Given the description of an element on the screen output the (x, y) to click on. 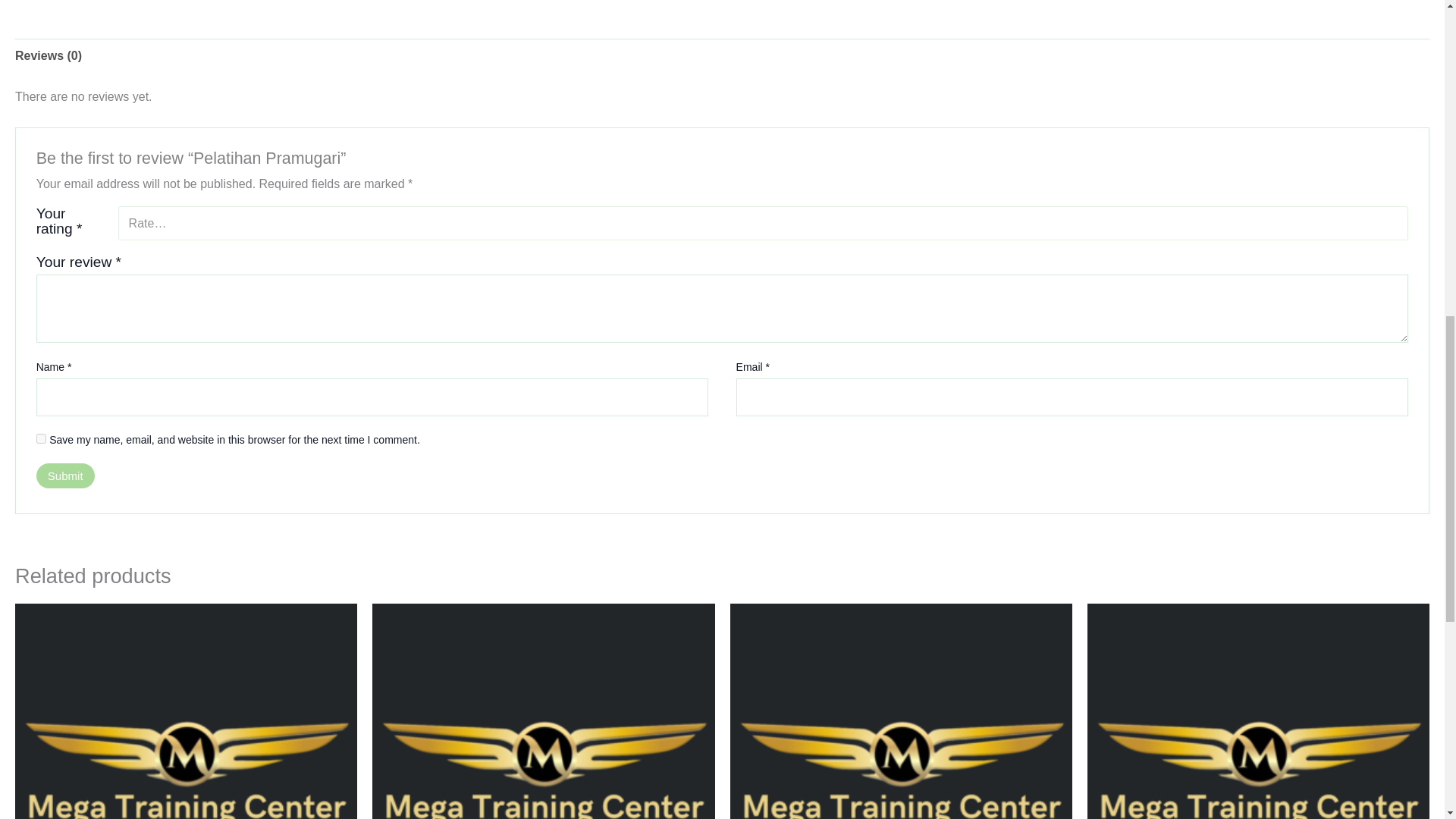
Submit (65, 475)
Submit (65, 475)
yes (41, 438)
